Given the description of an element on the screen output the (x, y) to click on. 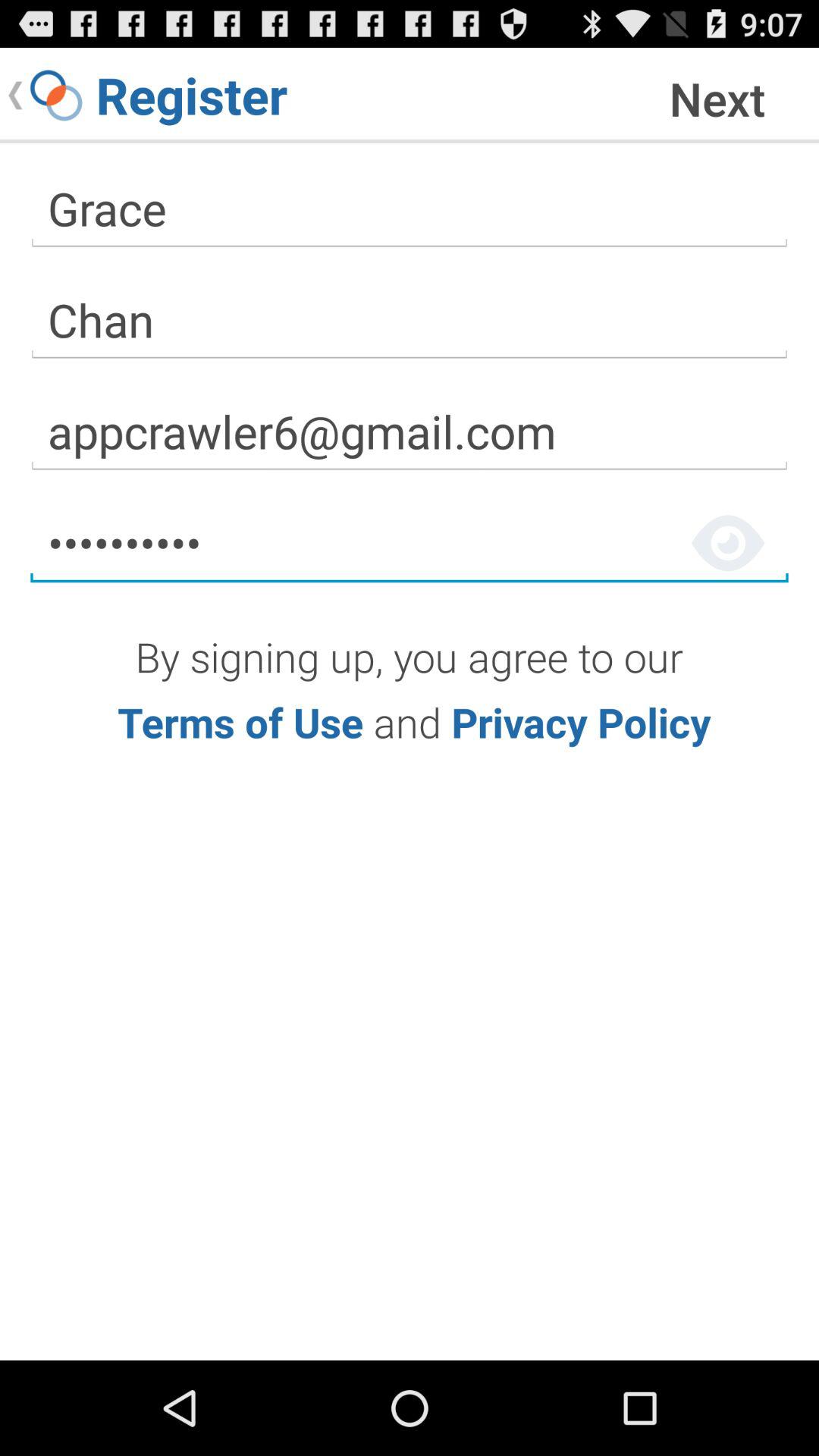
select the field which consists of eye symbol (409, 543)
click on terms of use link (240, 721)
click on the mail text field (409, 431)
click on the text field written as chan (409, 320)
select the text privacy policy from last line (581, 721)
